Given the description of an element on the screen output the (x, y) to click on. 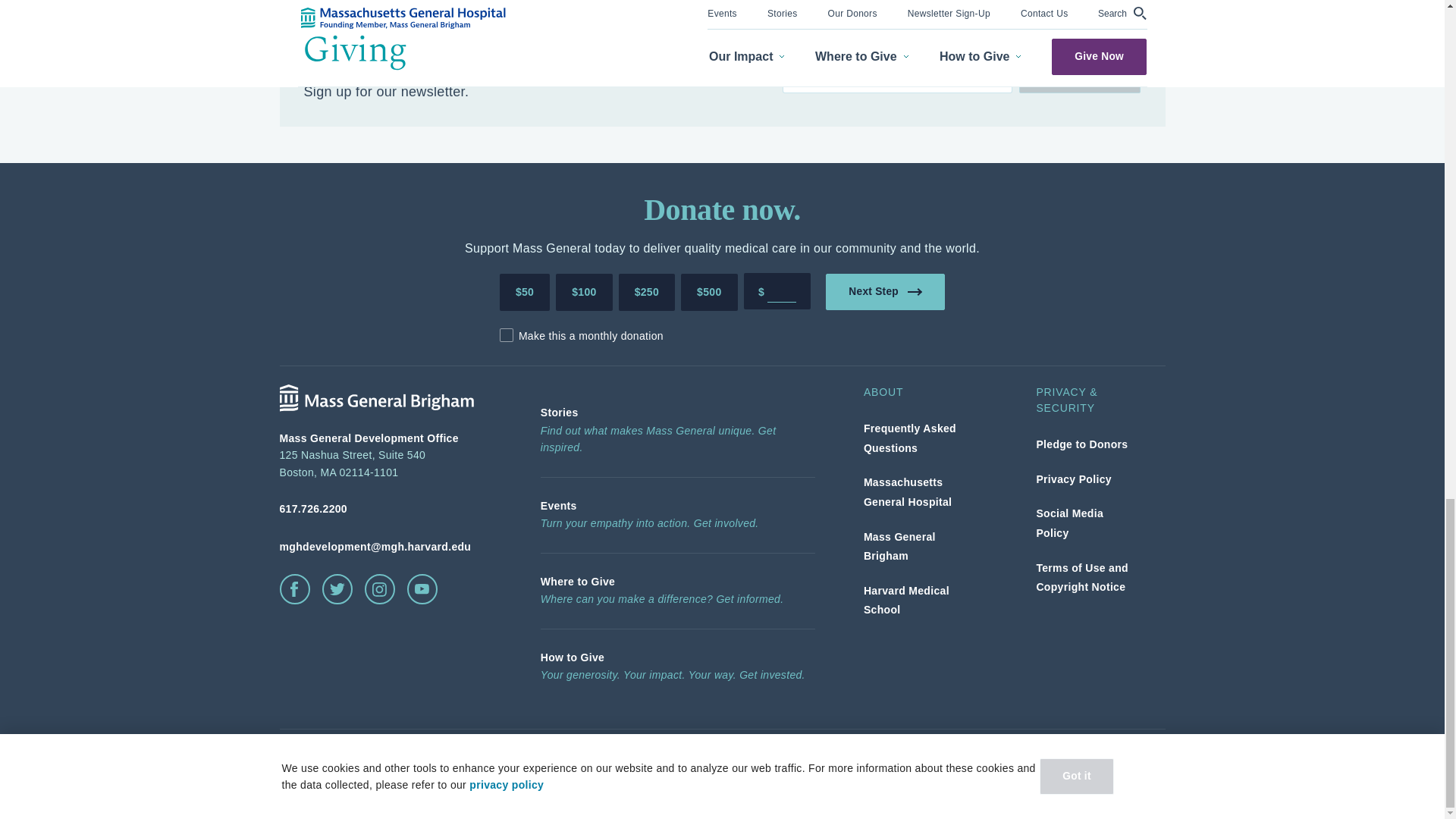
Subscribe (1079, 74)
